Given the description of an element on the screen output the (x, y) to click on. 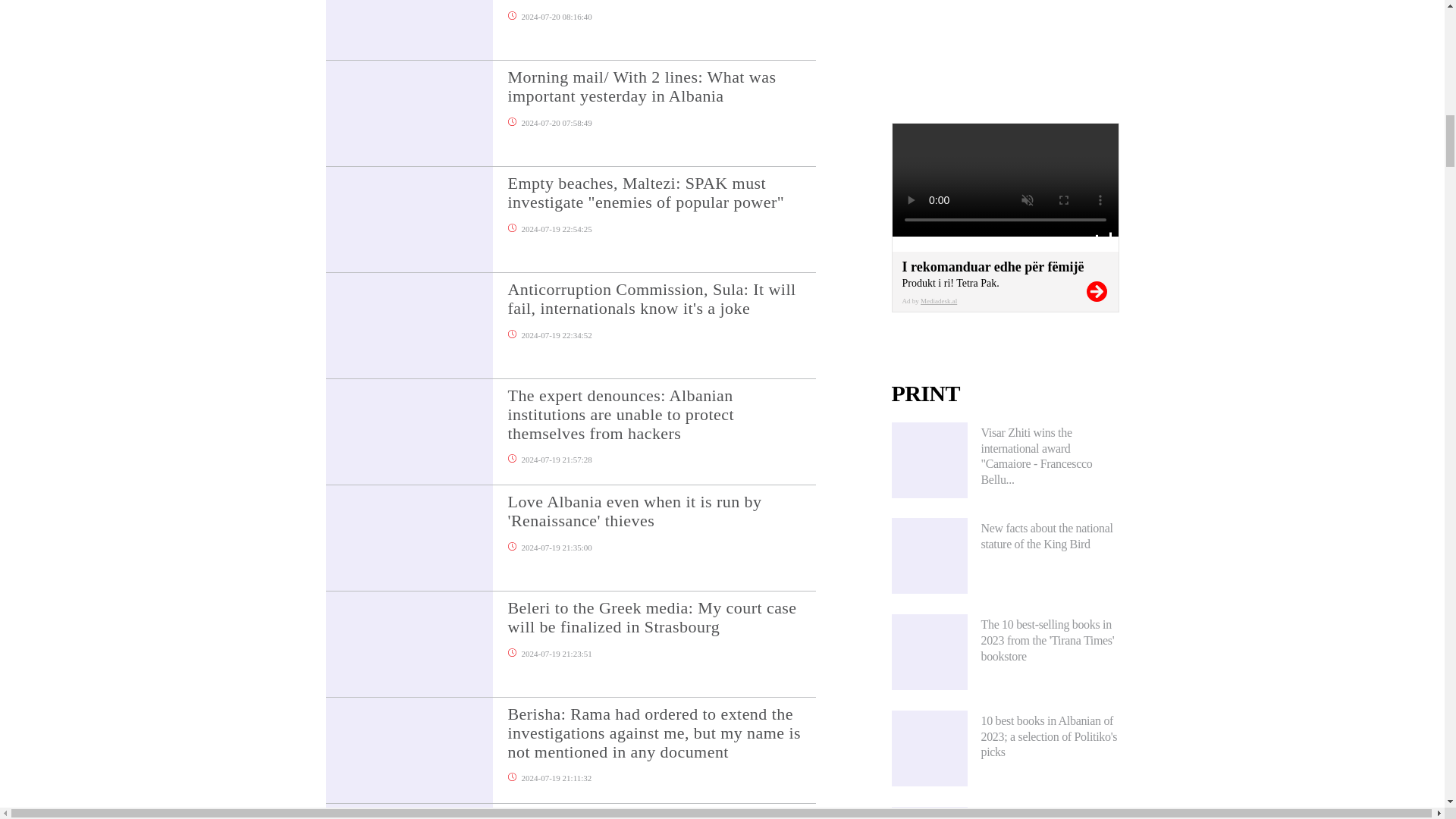
Love Albania even when it is run by 'Renaissance' thieves (661, 522)
3rd party ad content (1005, 46)
